Given the description of an element on the screen output the (x, y) to click on. 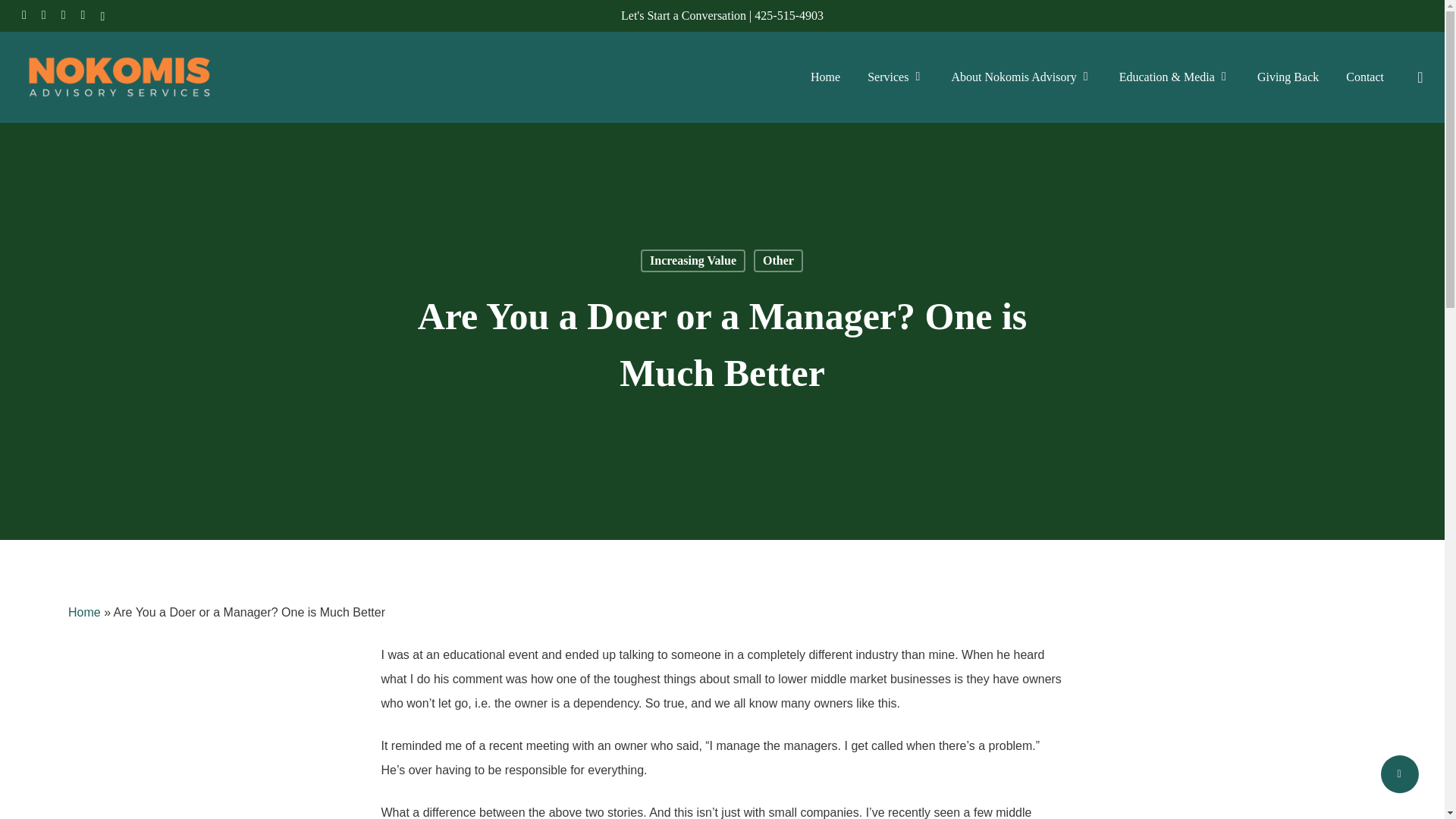
spotify (102, 15)
facebook (44, 15)
Giving Back (1288, 76)
Home (825, 76)
About Nokomis Advisory (1020, 76)
Increasing Value (692, 260)
Other (778, 260)
Services (895, 76)
Home (84, 612)
twitter (23, 15)
youtube (83, 15)
linkedin (63, 15)
search (1419, 77)
Contact (1364, 76)
